Given the description of an element on the screen output the (x, y) to click on. 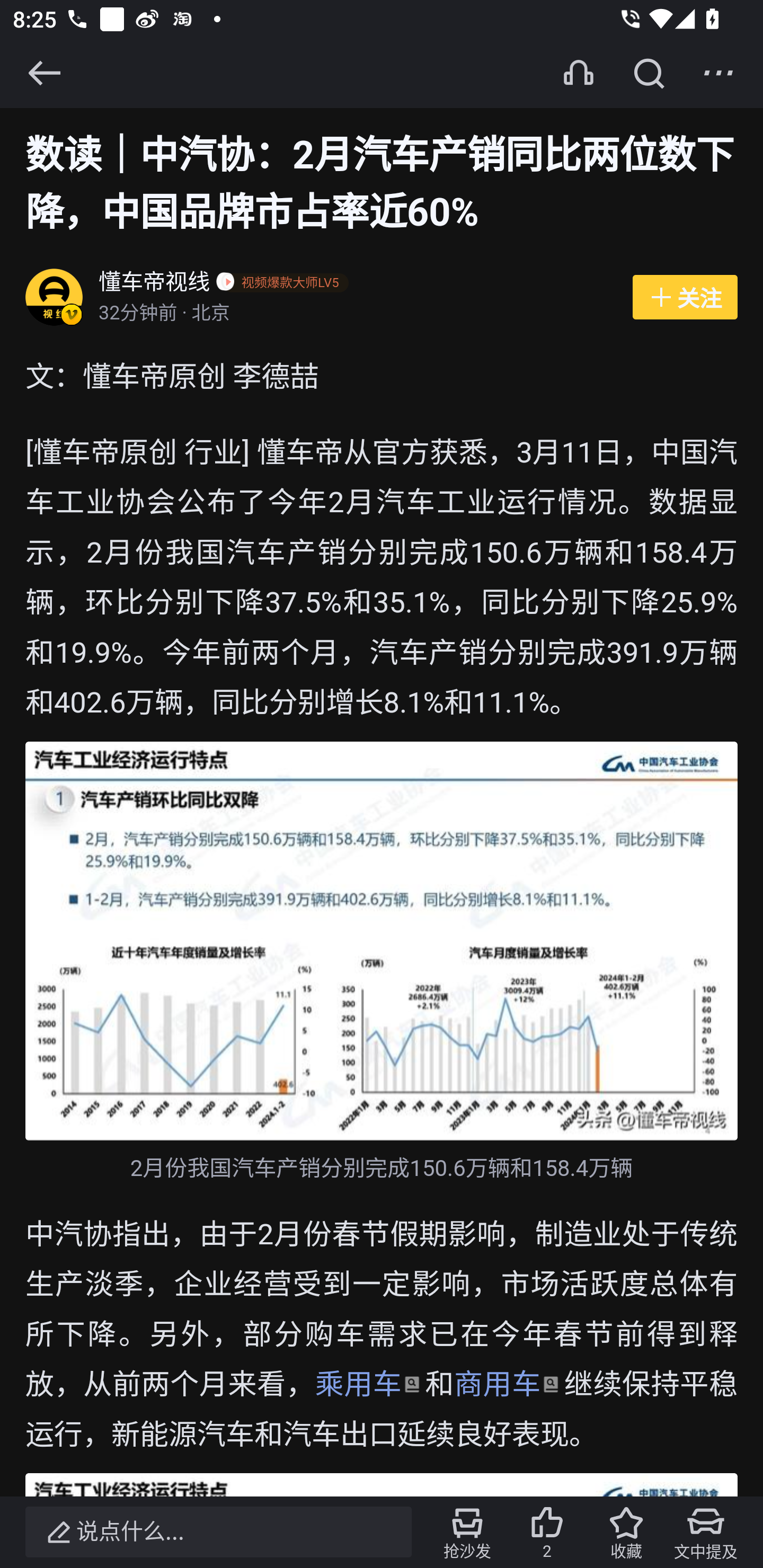
 (44, 72)
 (648, 72)
 (718, 72)
懂车帝视线 (154, 283)
c9cb558bacd790f5b8d2c5f3a44a9243 视频爆款大师LV5 (285, 283)
关注 (684, 297)
32分钟前 · 北京 32分钟前  · 北京 (355, 314)
UB5hvVGql_5wmKNqo8vO6cLRZ5w (381, 940)
 抢沙发 (467, 1531)
2 (546, 1531)
收藏 (625, 1531)
 文中提及 (705, 1531)
 说点什么... (218, 1531)
